Given the description of an element on the screen output the (x, y) to click on. 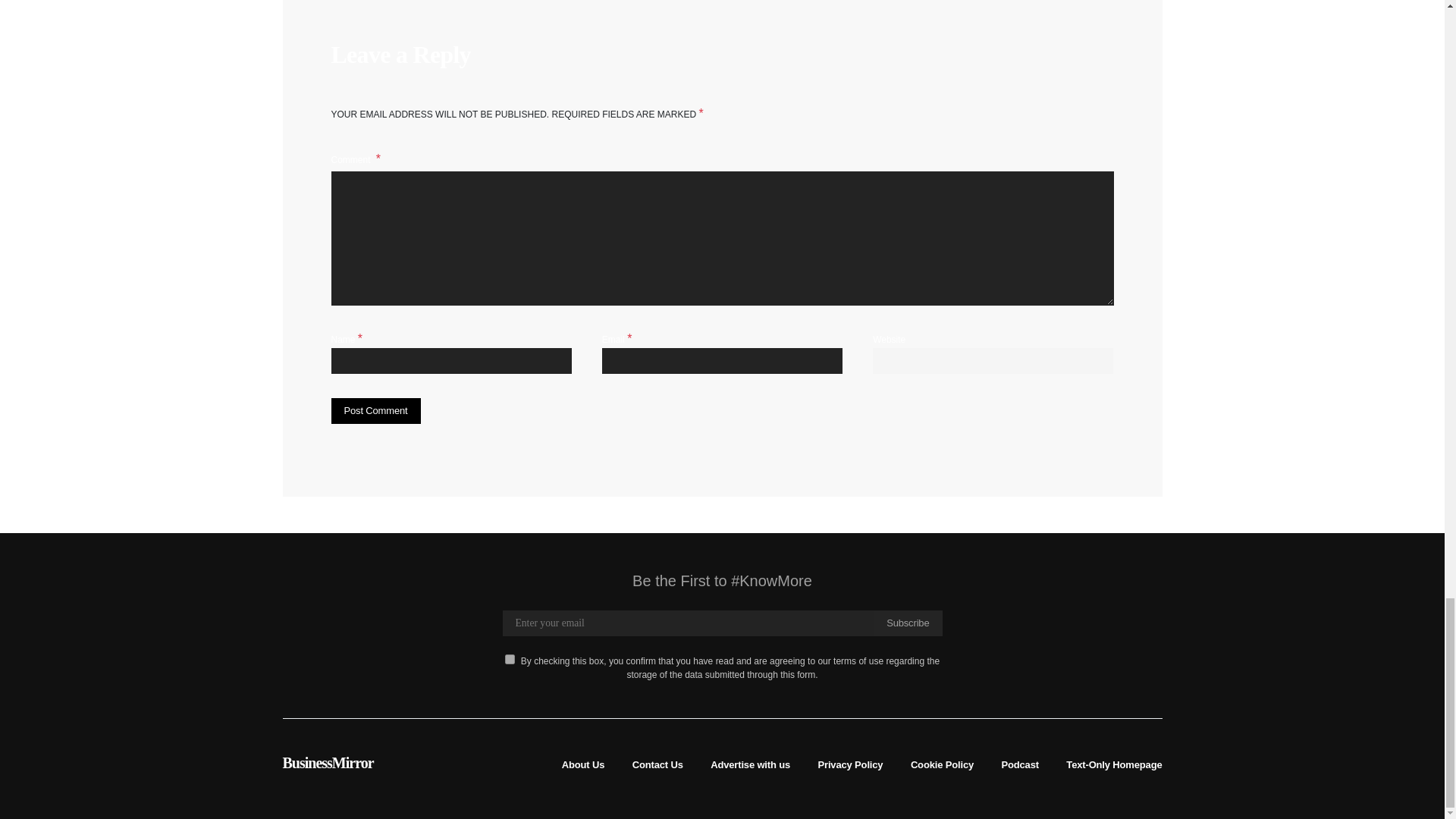
Post Comment (375, 411)
on (510, 659)
